Given the description of an element on the screen output the (x, y) to click on. 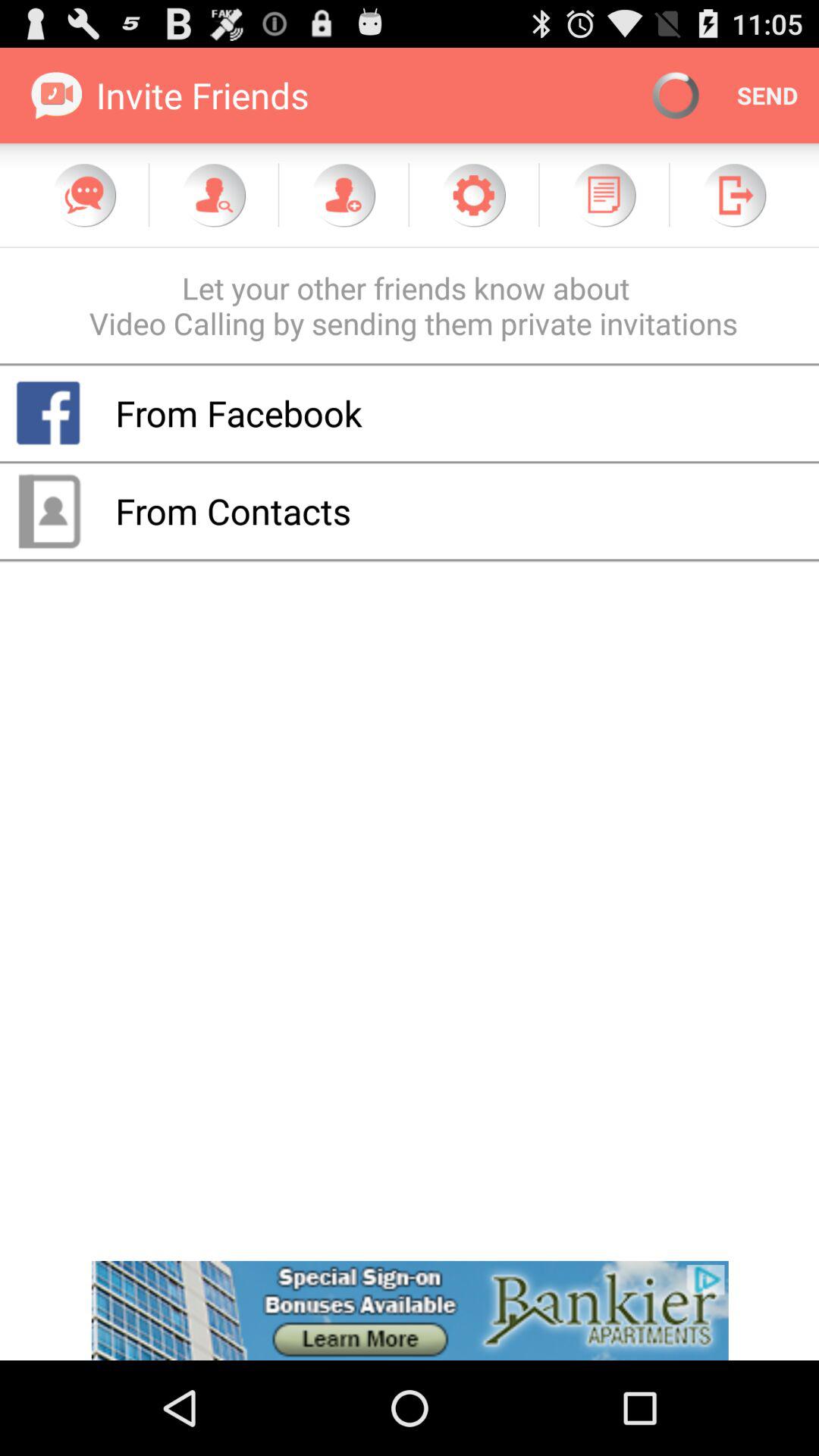
know about the advertisement (409, 1310)
